Given the description of an element on the screen output the (x, y) to click on. 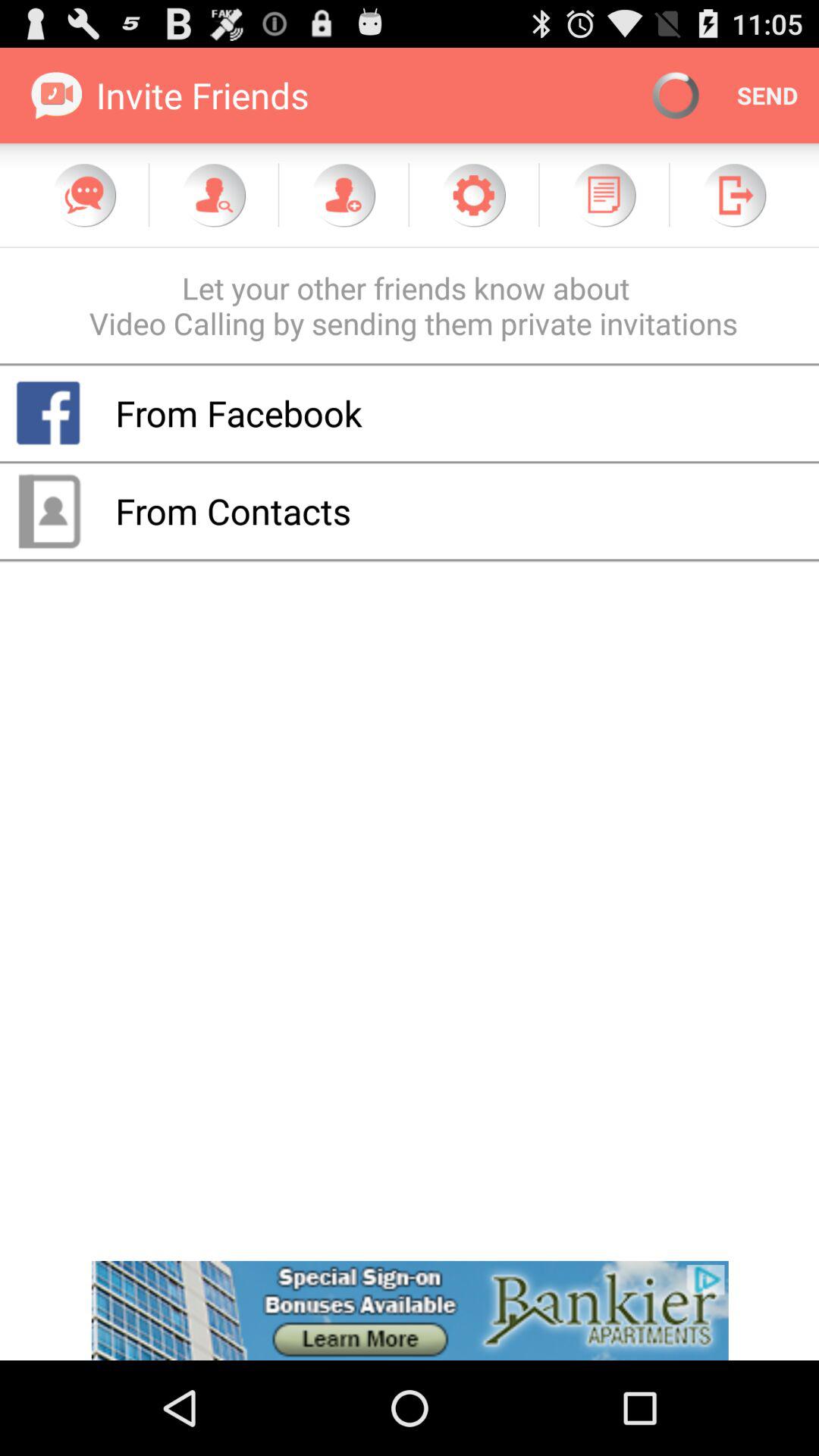
know about the advertisement (409, 1310)
